Given the description of an element on the screen output the (x, y) to click on. 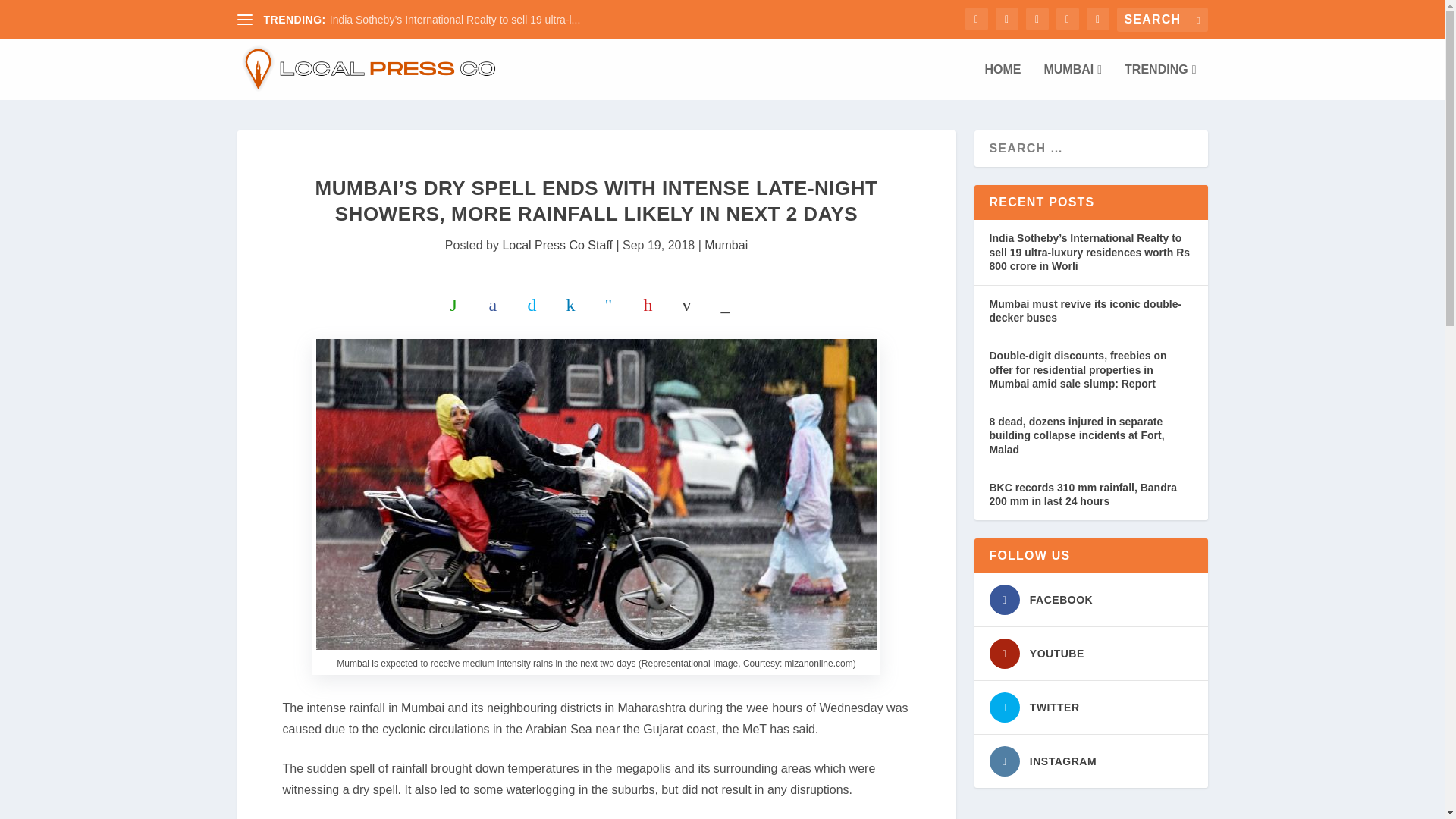
HOME (1002, 81)
MUMBAI (1072, 81)
Search for: (1161, 19)
TRENDING (1159, 81)
